Given the description of an element on the screen output the (x, y) to click on. 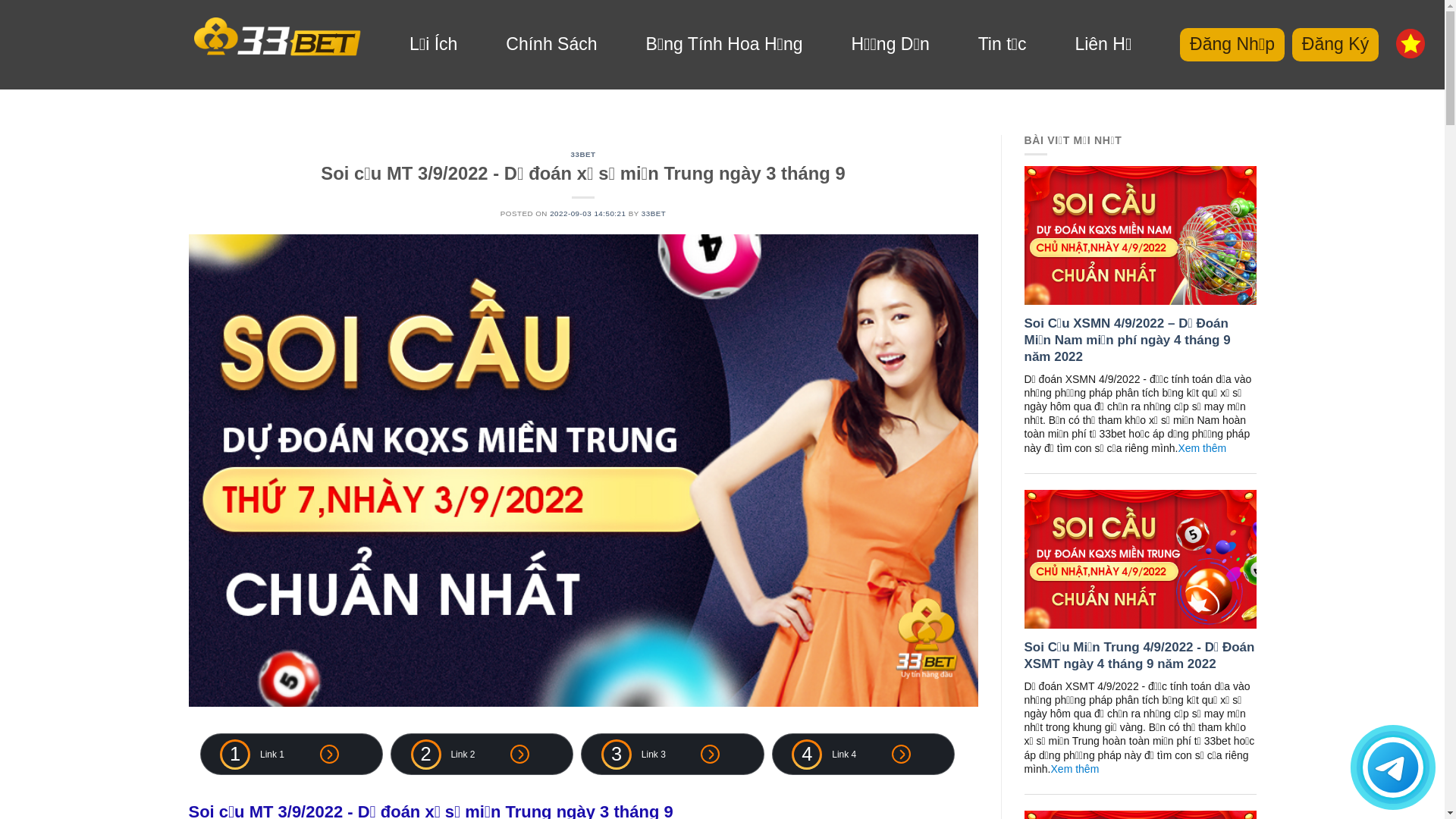
33BET Element type: text (583, 154)
3
Link 3 Element type: text (671, 754)
1
Link 1 Element type: text (291, 754)
2022-09-03 14:50:21 Element type: text (587, 213)
33BET Element type: text (653, 213)
4
Link 4 Element type: text (862, 754)
2
Link 2 Element type: text (481, 754)
